Given the description of an element on the screen output the (x, y) to click on. 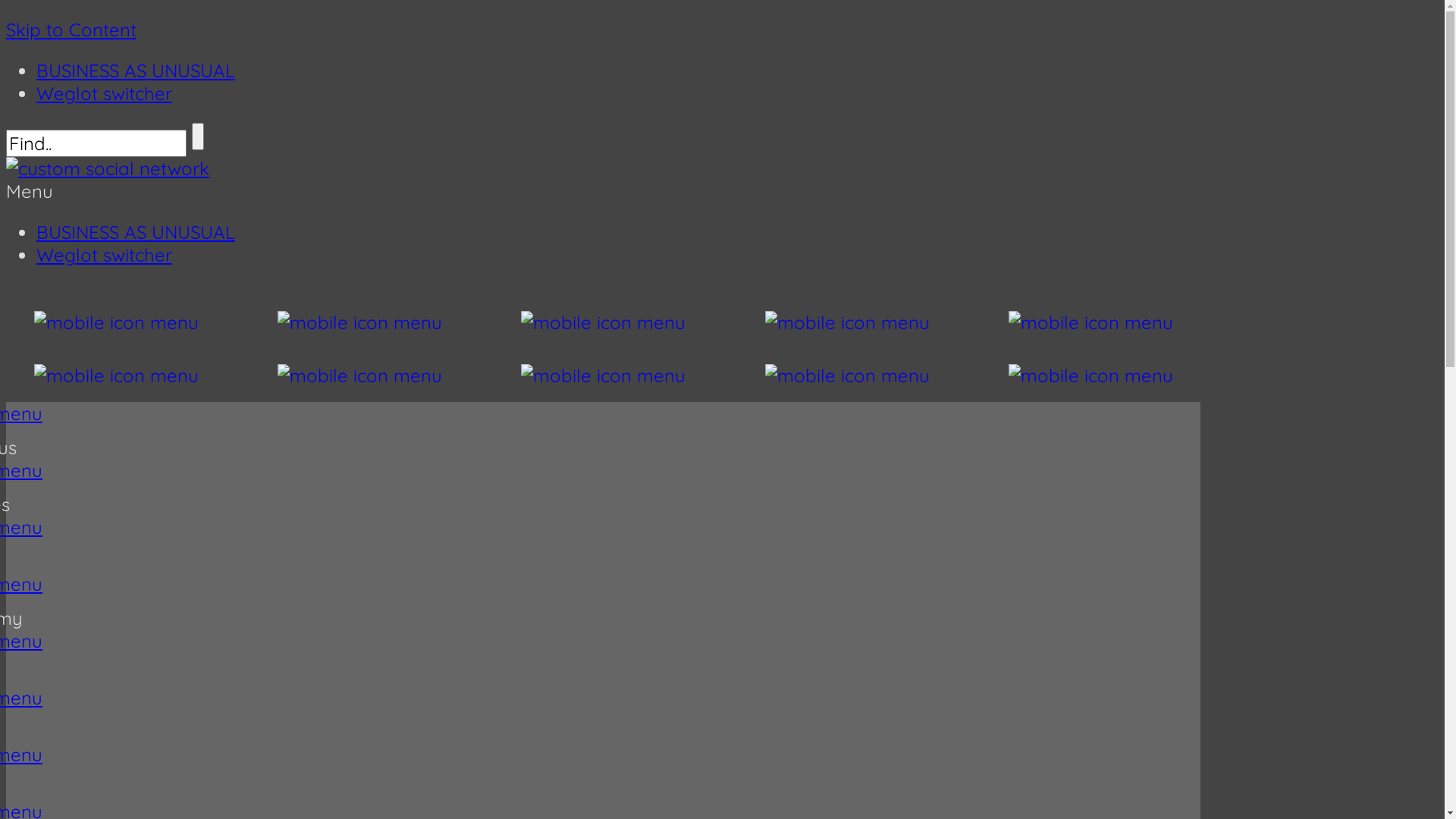
BUSINESS AS UNUSUAL Element type: text (135, 70)
Weglot switcher Element type: text (104, 92)
Skip to Content Element type: text (71, 29)
BUSINESS AS UNUSUAL Element type: text (135, 231)
Weglot switcher Element type: text (104, 254)
